Given the description of an element on the screen output the (x, y) to click on. 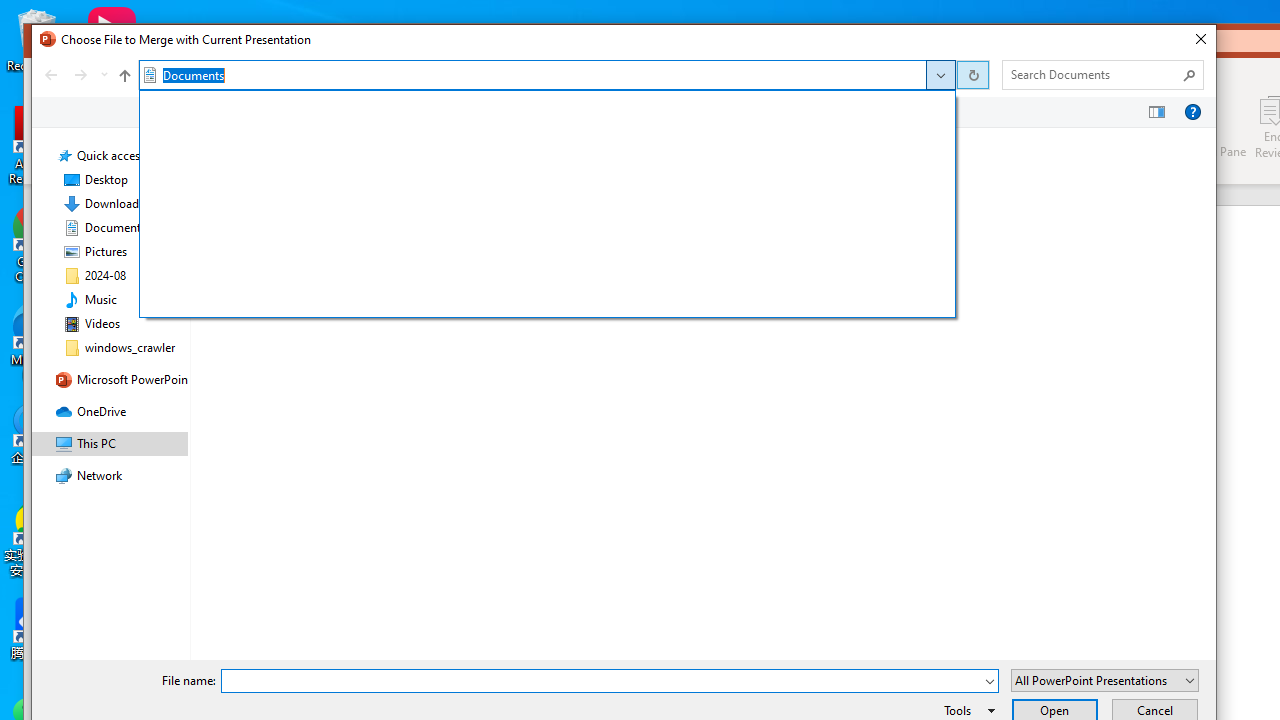
Navigation buttons (73, 74)
Address band toolbar (972, 74)
Address (940, 75)
Back (Alt + Left Arrow) (50, 74)
Class: UIImage (218, 211)
WeChat Files (504, 211)
Date modified (535, 140)
Name (345, 211)
Name (327, 140)
Up to "This PC" (Alt + Up Arrow) (124, 75)
Size (767, 211)
&Help (1192, 112)
